Given the description of an element on the screen output the (x, y) to click on. 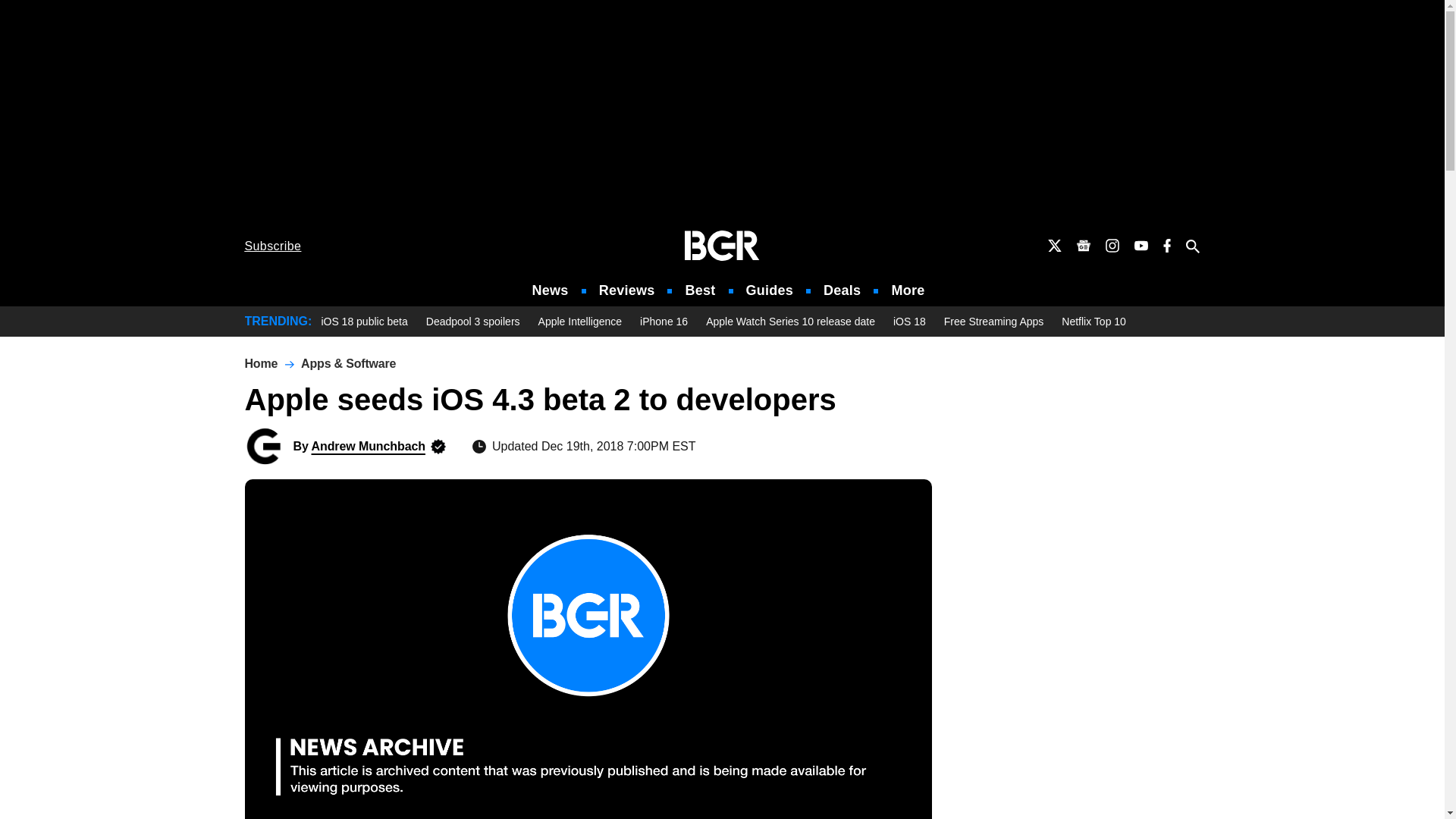
Posts by Andrew Munchbach (368, 445)
More (907, 290)
Guides (769, 290)
Deals (842, 290)
Best (699, 290)
Reviews (626, 290)
Subscribe (272, 245)
News (550, 290)
